Given the description of an element on the screen output the (x, y) to click on. 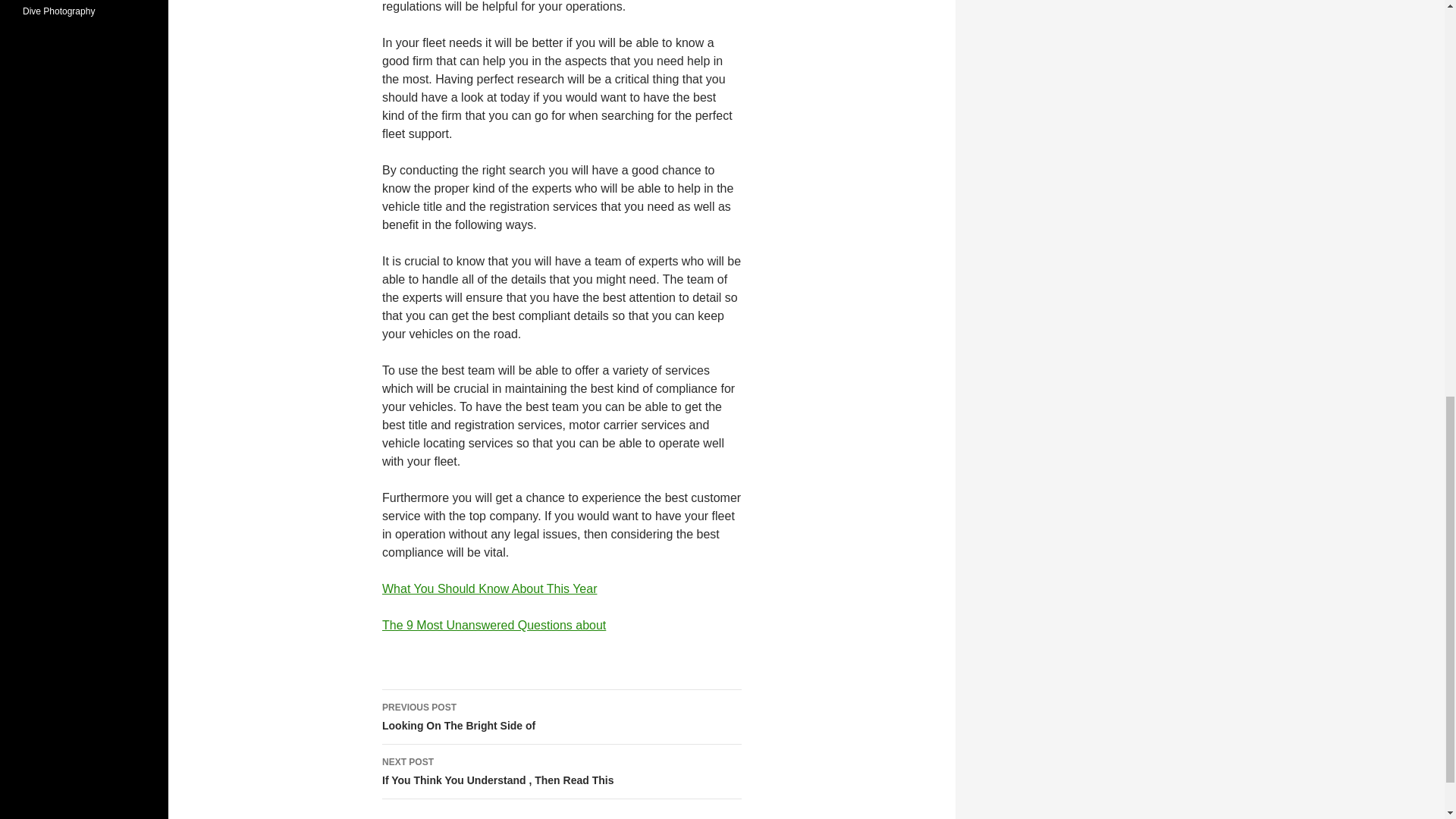
View all posts filed under Dive Photography (561, 771)
The 9 Most Unanswered Questions about (561, 717)
What You Should Know About This Year (58, 10)
